Given the description of an element on the screen output the (x, y) to click on. 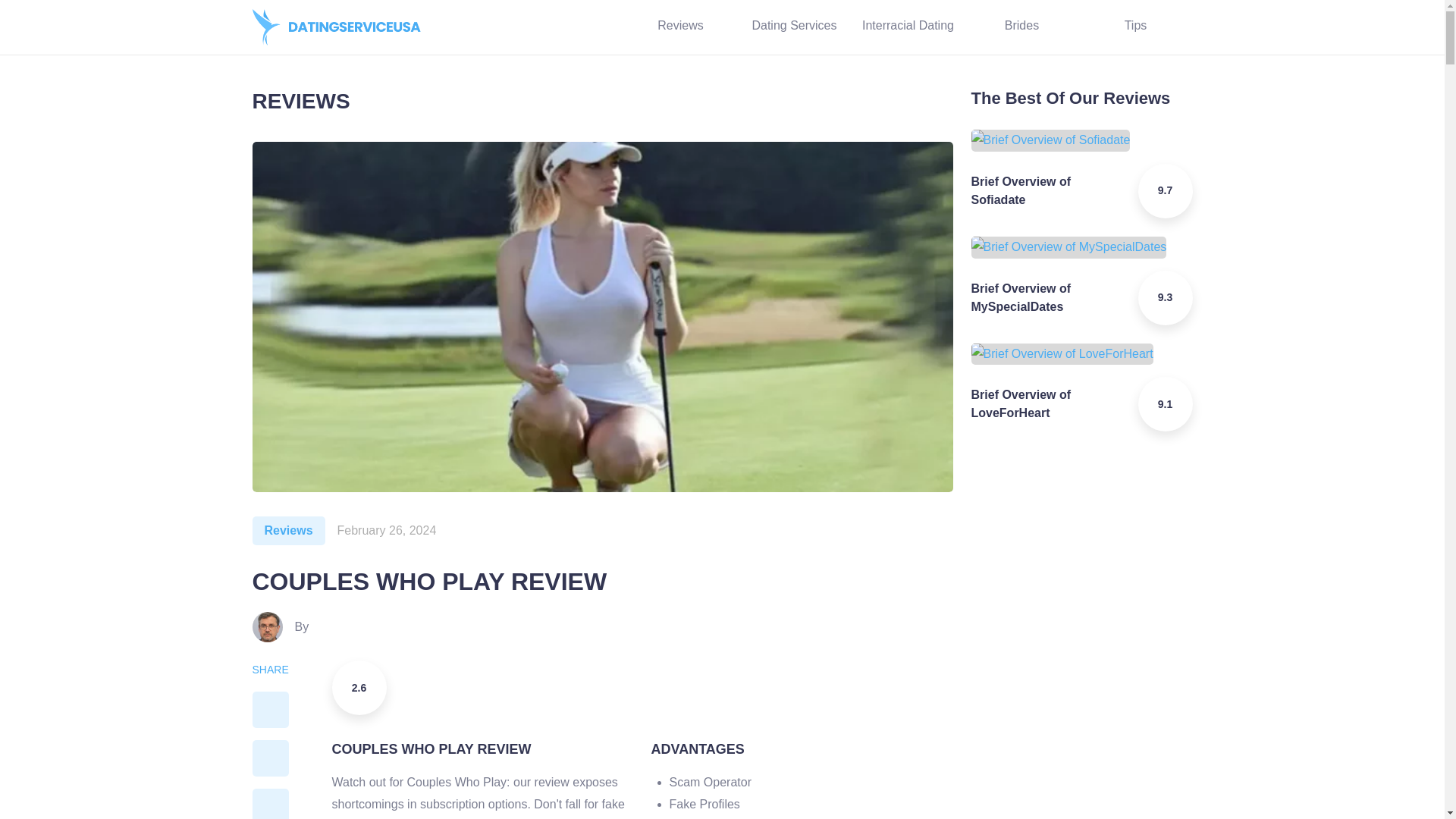
Share on Pinterest (269, 803)
Share on Facebook (269, 709)
Reviews (287, 530)
Interracial Dating (906, 27)
We are on Facebook (550, 27)
Tips (1135, 27)
Brides (1020, 27)
Reviews (679, 27)
We are on Instagram (466, 27)
Dating Services (793, 27)
